Given the description of an element on the screen output the (x, y) to click on. 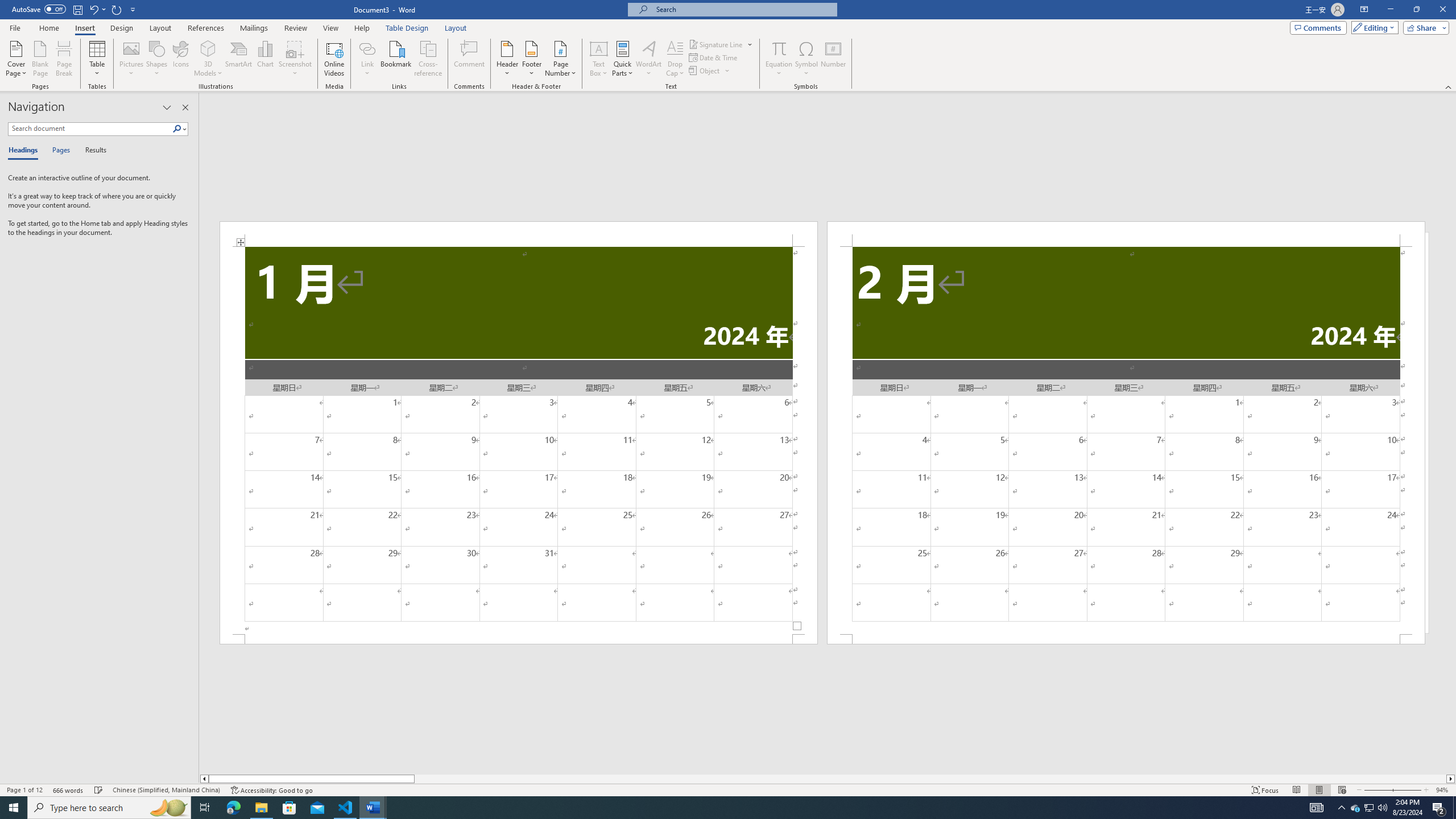
Review (295, 28)
Pictures (131, 58)
Undo Increase Indent (96, 9)
Icons (180, 58)
Search (179, 128)
Print Layout (1318, 790)
Mailings (253, 28)
Restore Down (1416, 9)
Undo Increase Indent (92, 9)
References (205, 28)
Footer -Section 1- (518, 638)
Object... (709, 69)
